Given the description of an element on the screen output the (x, y) to click on. 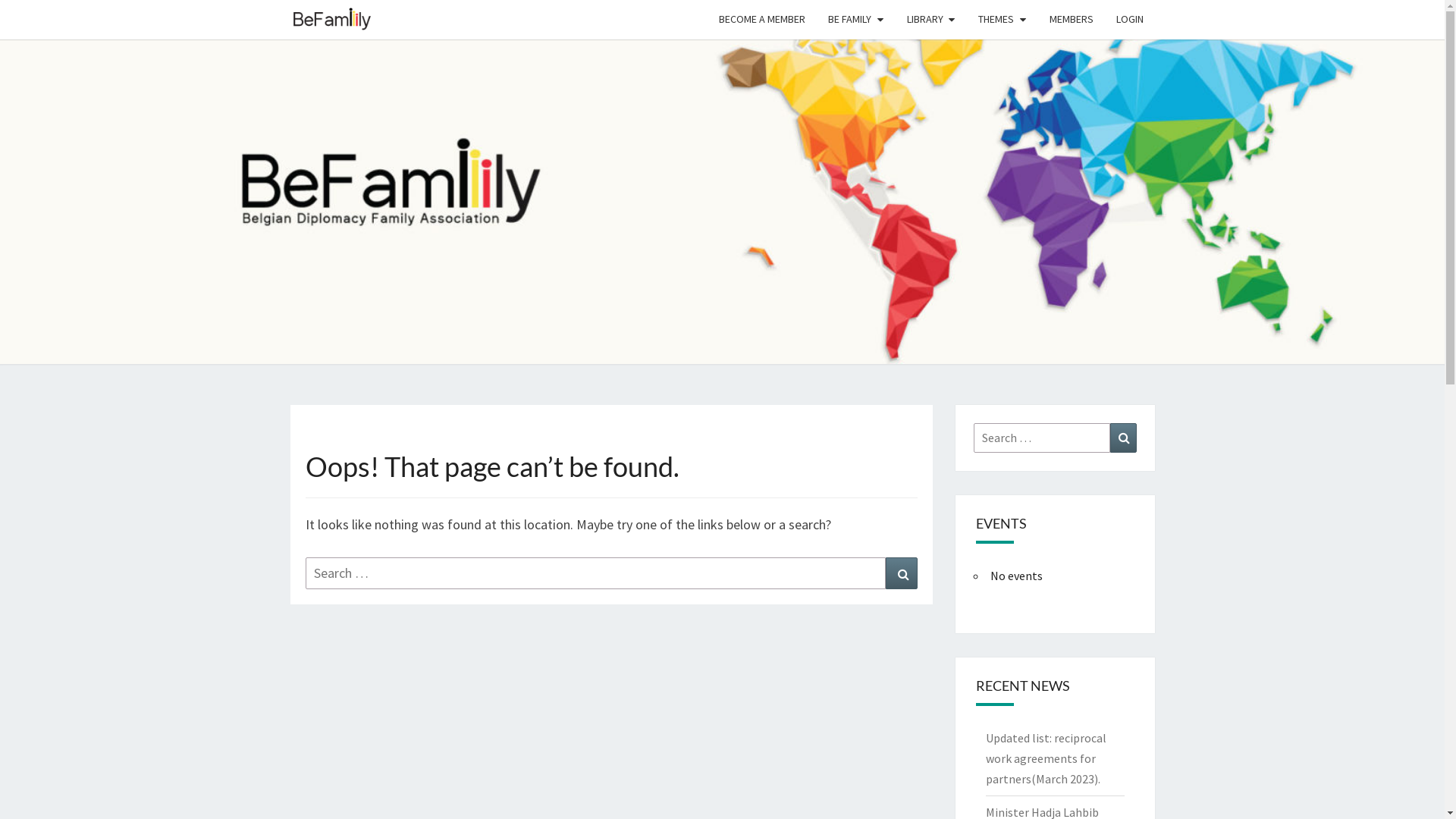
BECOME A MEMBER Element type: text (761, 19)
MEMBERS Element type: text (1070, 19)
Search for: Element type: hover (594, 573)
BE FAMILY Element type: text (855, 19)
BEFAMILY Element type: text (331, 18)
Search Element type: text (901, 573)
LIBRARY Element type: text (930, 19)
Search for: Element type: hover (1041, 437)
THEMES Element type: text (1002, 19)
LOGIN Element type: text (1129, 19)
Search Element type: text (1123, 437)
